Given the description of an element on the screen output the (x, y) to click on. 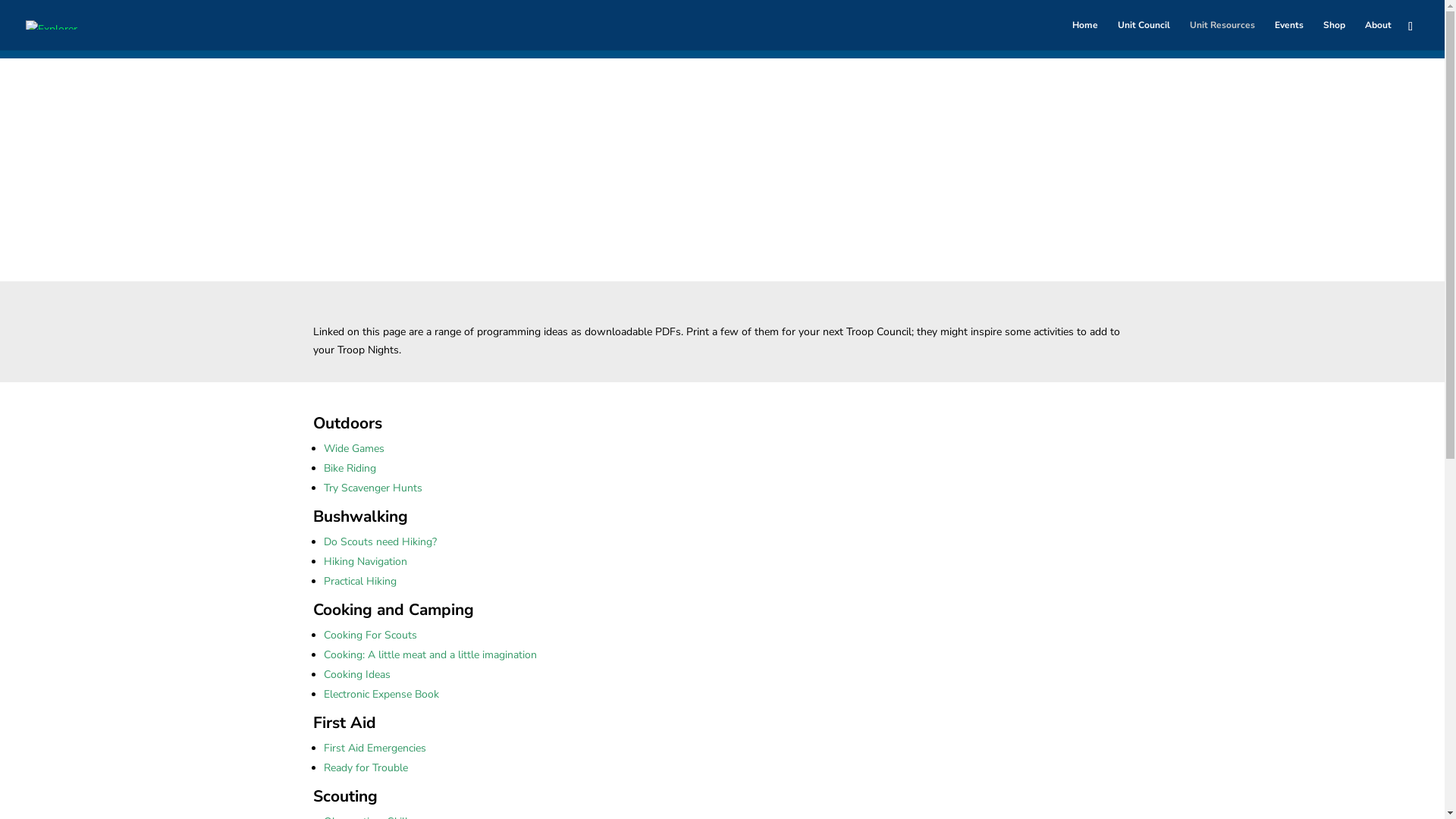
Cooking: A little meat and a little imagination Element type: text (429, 654)
Ready for Trouble Element type: text (365, 767)
Home Element type: text (1085, 34)
Shop Element type: text (1334, 34)
About Element type: text (1378, 34)
Unit Council Element type: text (1143, 34)
Events Element type: text (1288, 34)
Unit Resources Element type: text (1222, 34)
Bike Riding Element type: text (349, 468)
Electronic Expense Book Element type: text (380, 694)
Practical Hiking Element type: text (359, 581)
Try Scavenger Hunts Element type: text (372, 487)
Cooking Ideas Element type: text (356, 674)
Cooking For Scouts Element type: text (369, 634)
Hiking Navigation Element type: text (364, 561)
Wide Games Element type: text (353, 448)
First Aid Emergencies Element type: text (374, 747)
Do Scouts need Hiking? Element type: text (379, 541)
